Given the description of an element on the screen output the (x, y) to click on. 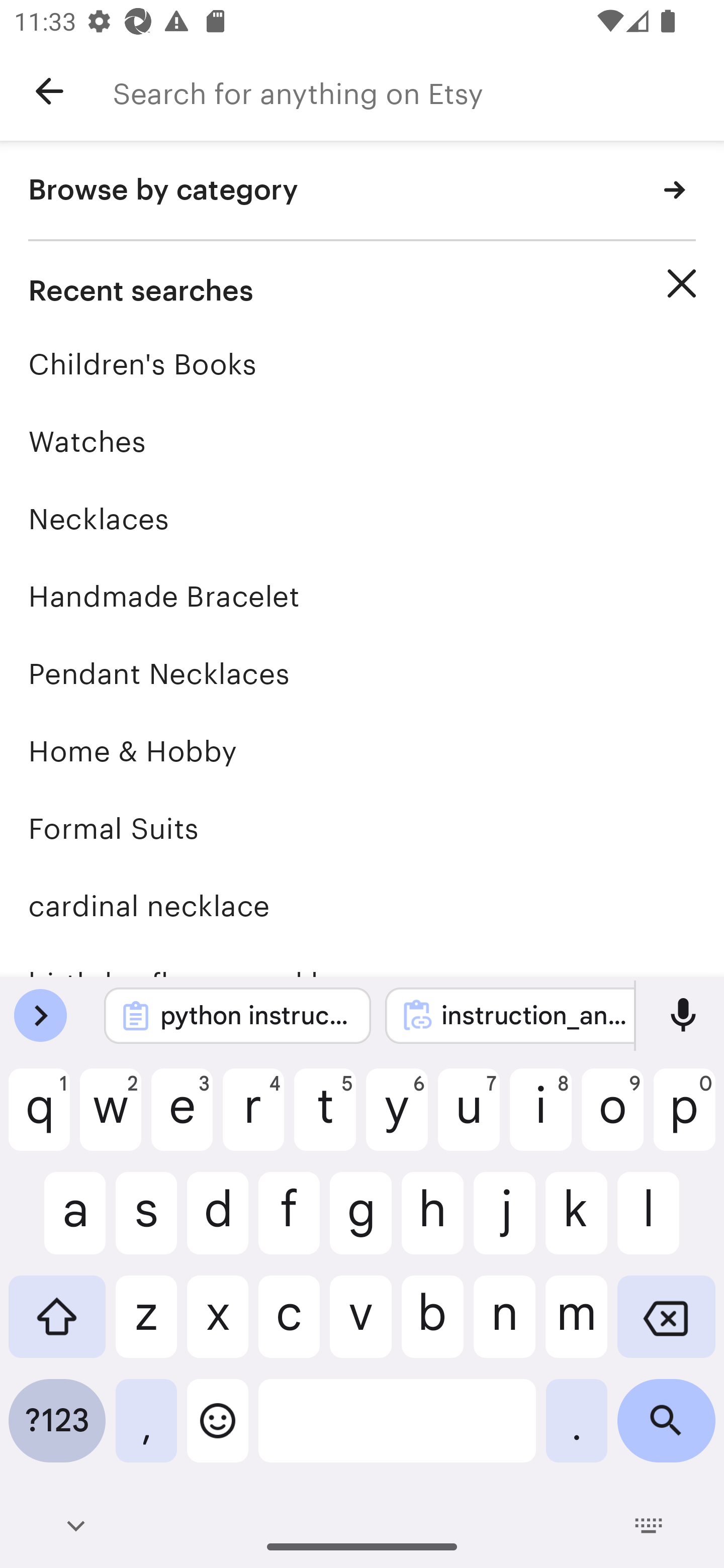
Navigate up (49, 91)
Search for anything on Etsy (418, 91)
Browse by category (362, 191)
Clear (681, 283)
Children's Books (362, 364)
Watches (362, 440)
Necklaces (362, 518)
Handmade Bracelet (362, 596)
Pendant Necklaces (362, 673)
Home & Hobby (362, 750)
Formal Suits (362, 828)
cardinal necklace (362, 906)
